Given the description of an element on the screen output the (x, y) to click on. 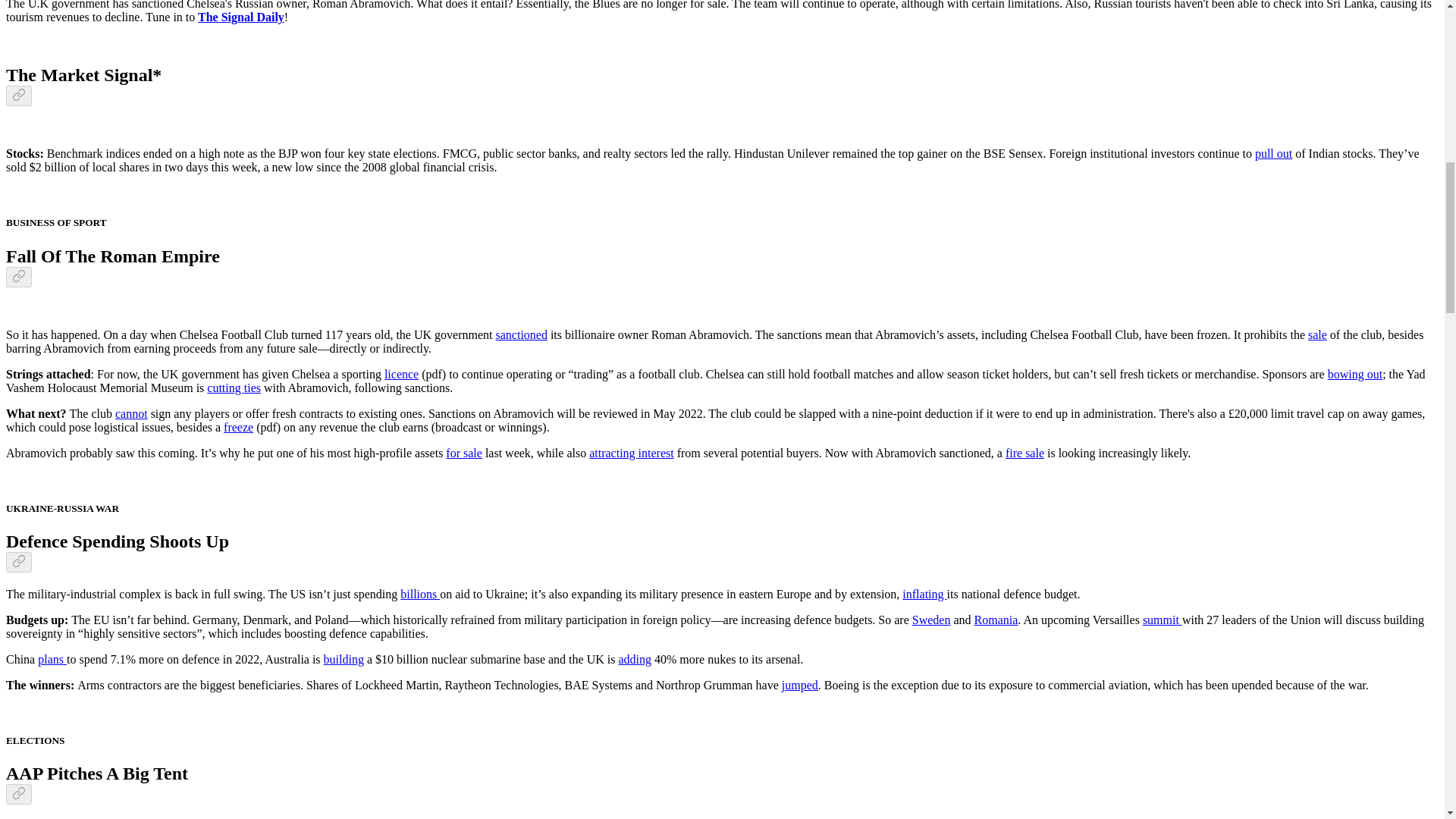
The Signal Daily (240, 16)
cannot (131, 413)
cutting ties (233, 387)
for sale (463, 452)
sale (1316, 334)
freeze (238, 427)
sanctioned (521, 334)
attracting interest (631, 452)
pull out (1273, 153)
bowing out (1354, 373)
